Given the description of an element on the screen output the (x, y) to click on. 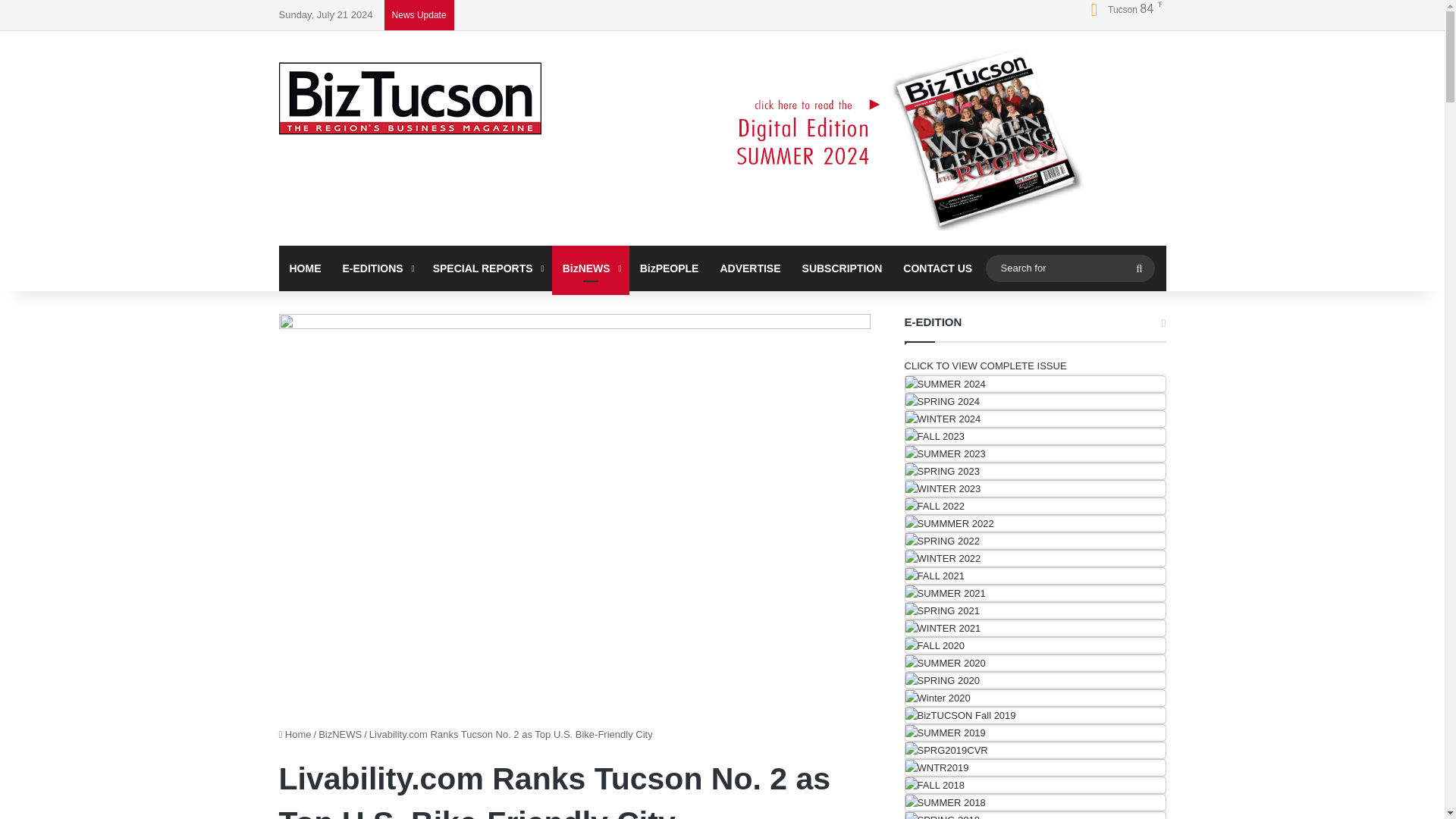
Search for (1069, 267)
SUMMER 2024 (945, 383)
SUMMER 2024 (945, 383)
Clear Sky (1120, 9)
E-EDITIONS (376, 268)
BizTUCSON (410, 99)
HOME (305, 268)
